Given the description of an element on the screen output the (x, y) to click on. 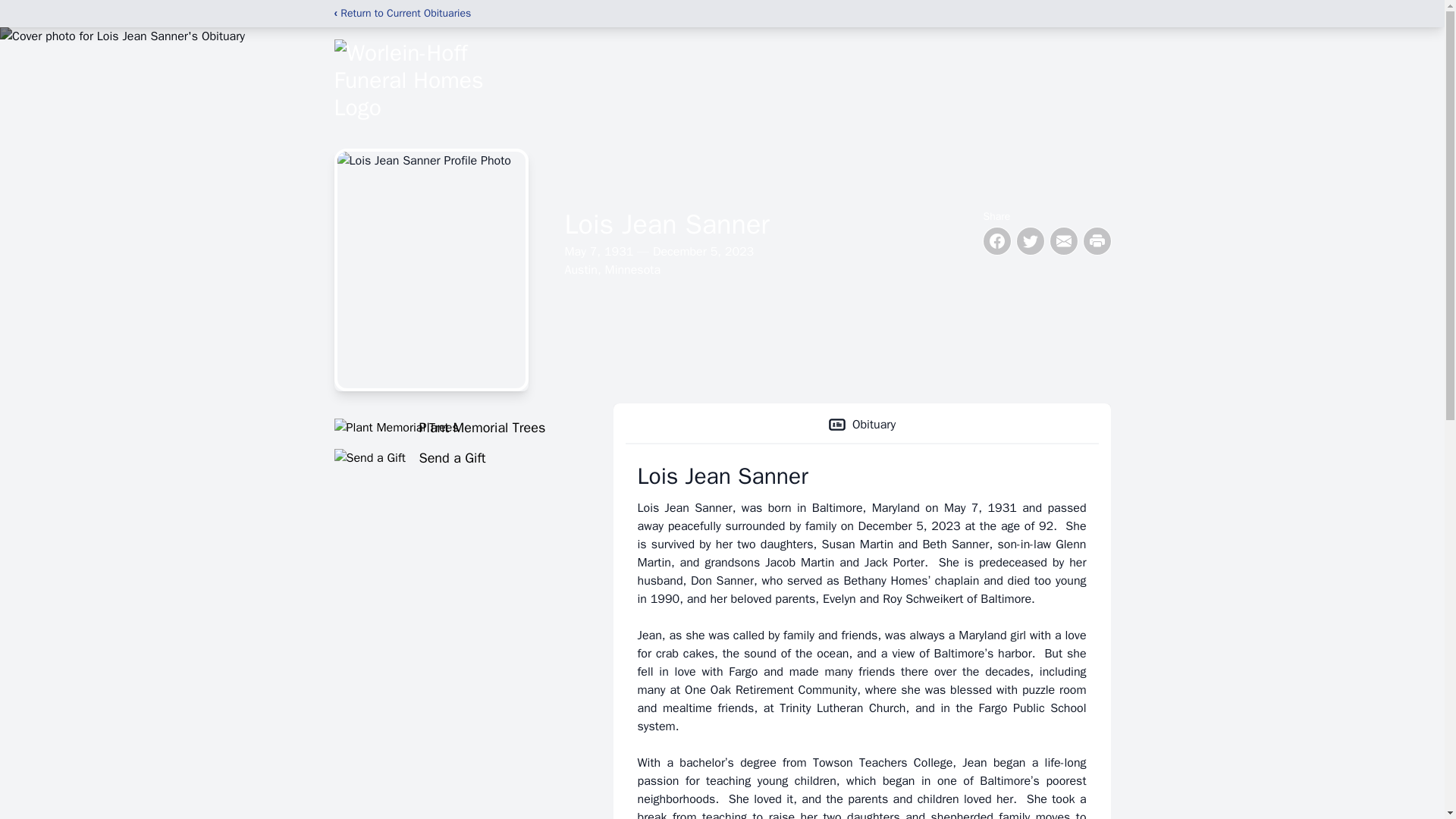
Obituary (860, 425)
Send a Gift (454, 457)
Plant Memorial Trees (454, 427)
